Given the description of an element on the screen output the (x, y) to click on. 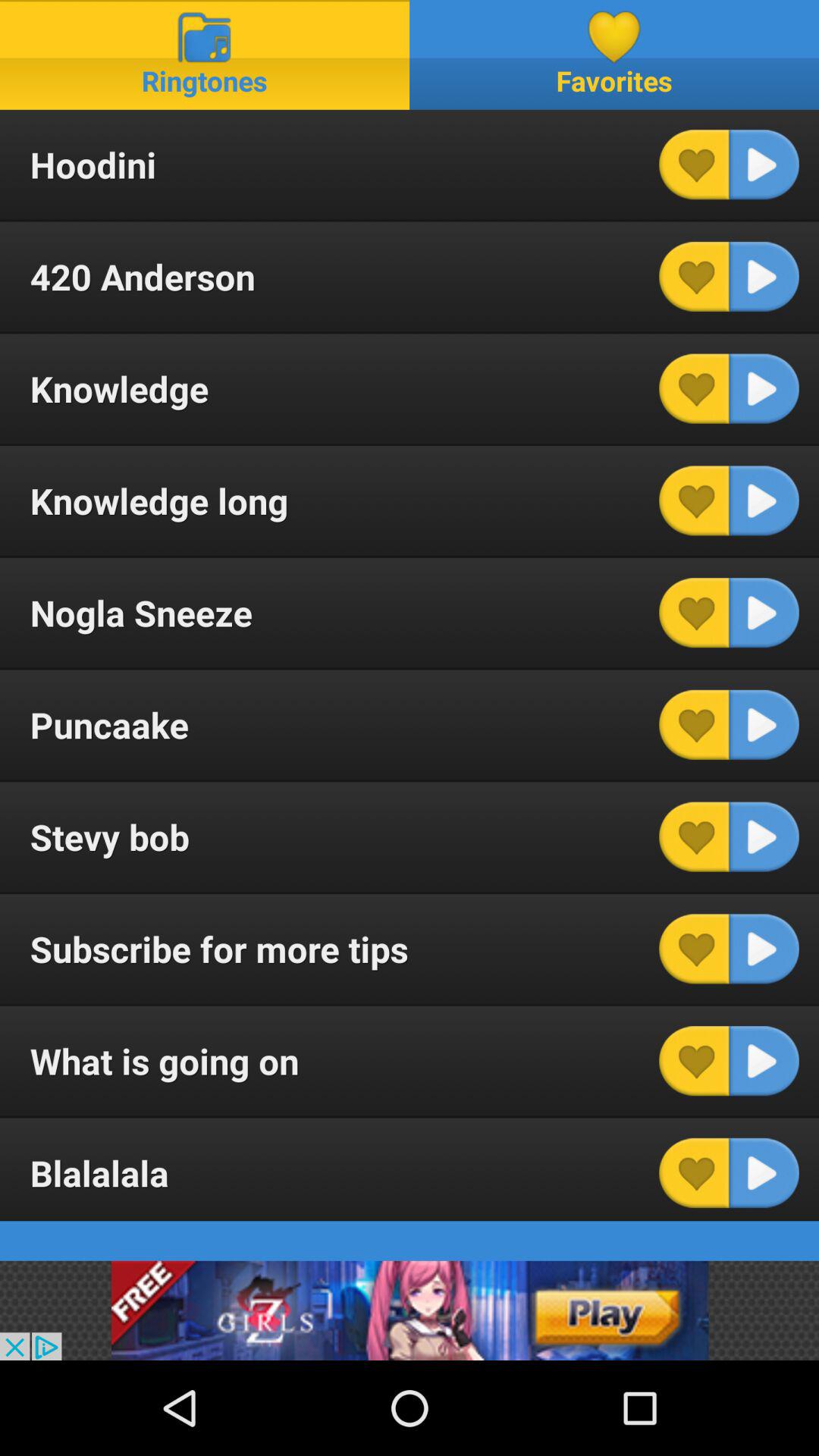
mark as favorite (694, 276)
